Given the description of an element on the screen output the (x, y) to click on. 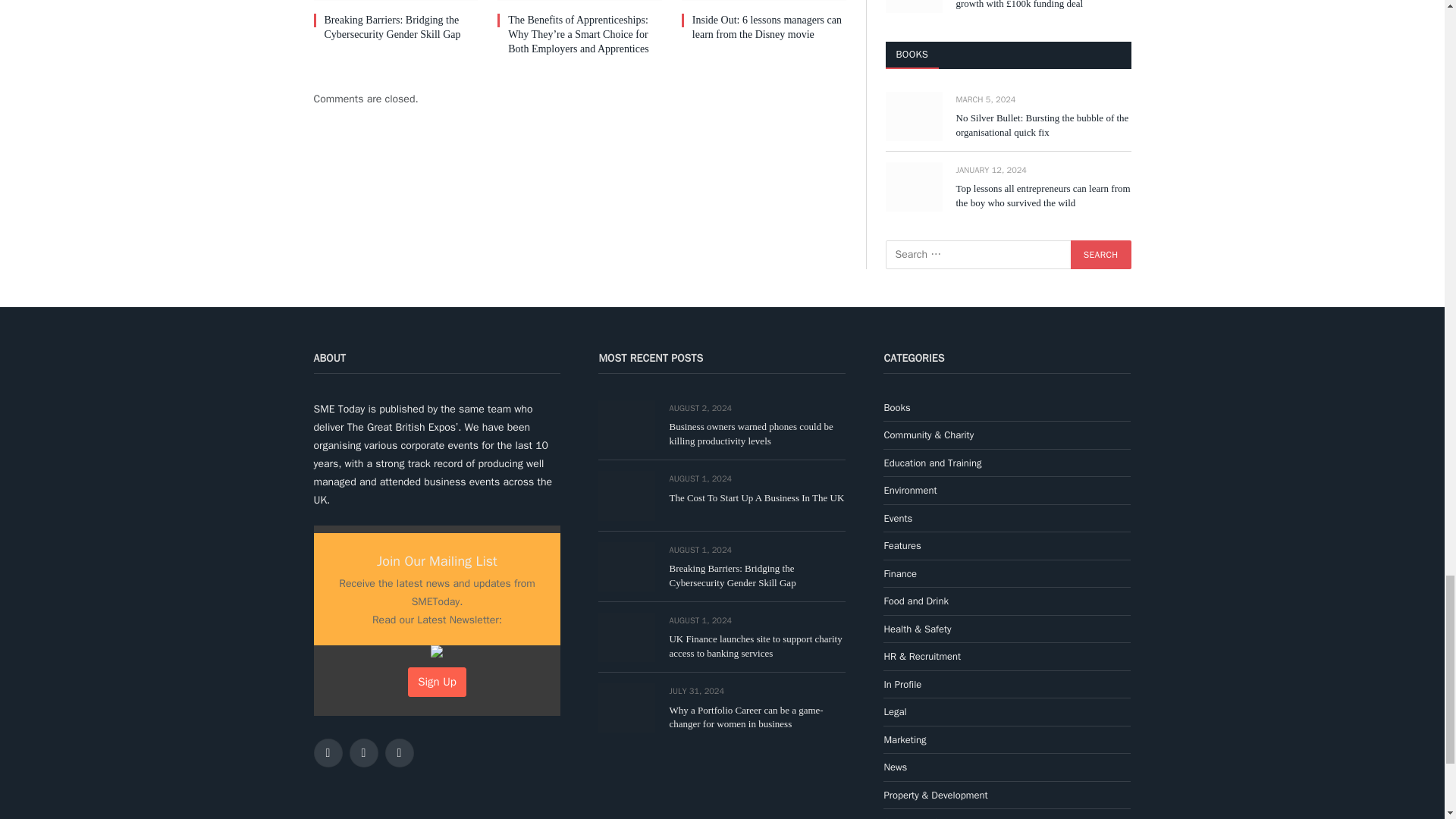
Search (1100, 254)
Search (1100, 254)
